Given the description of an element on the screen output the (x, y) to click on. 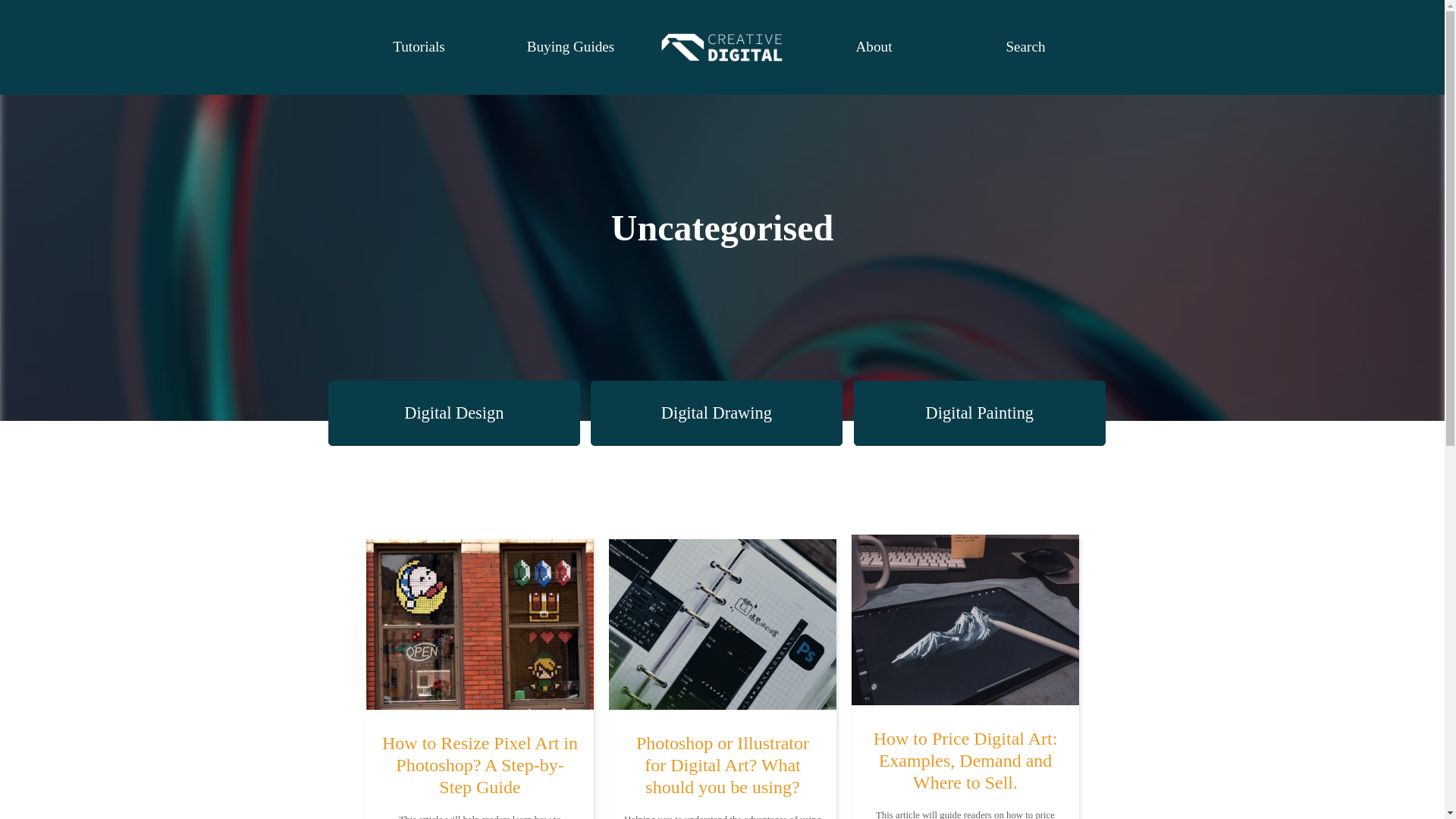
Digital Drawing (717, 412)
Digital Painting (979, 412)
Buying Guides (570, 46)
Tutorials (419, 46)
Creative Digital Logo (722, 47)
Search (1025, 46)
About (874, 46)
Digital Design (453, 412)
